Given the description of an element on the screen output the (x, y) to click on. 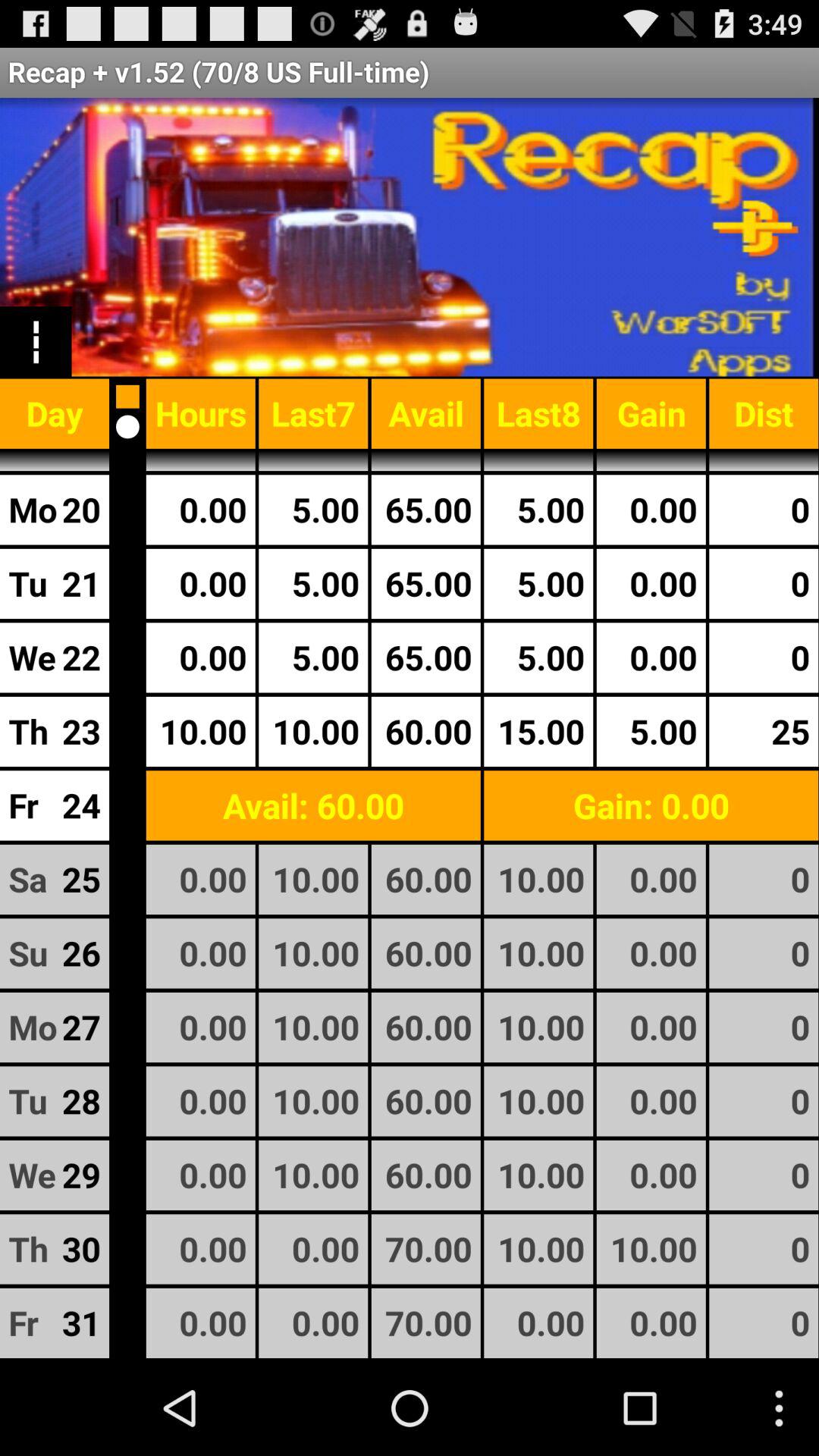
cal under page (127, 426)
